Given the description of an element on the screen output the (x, y) to click on. 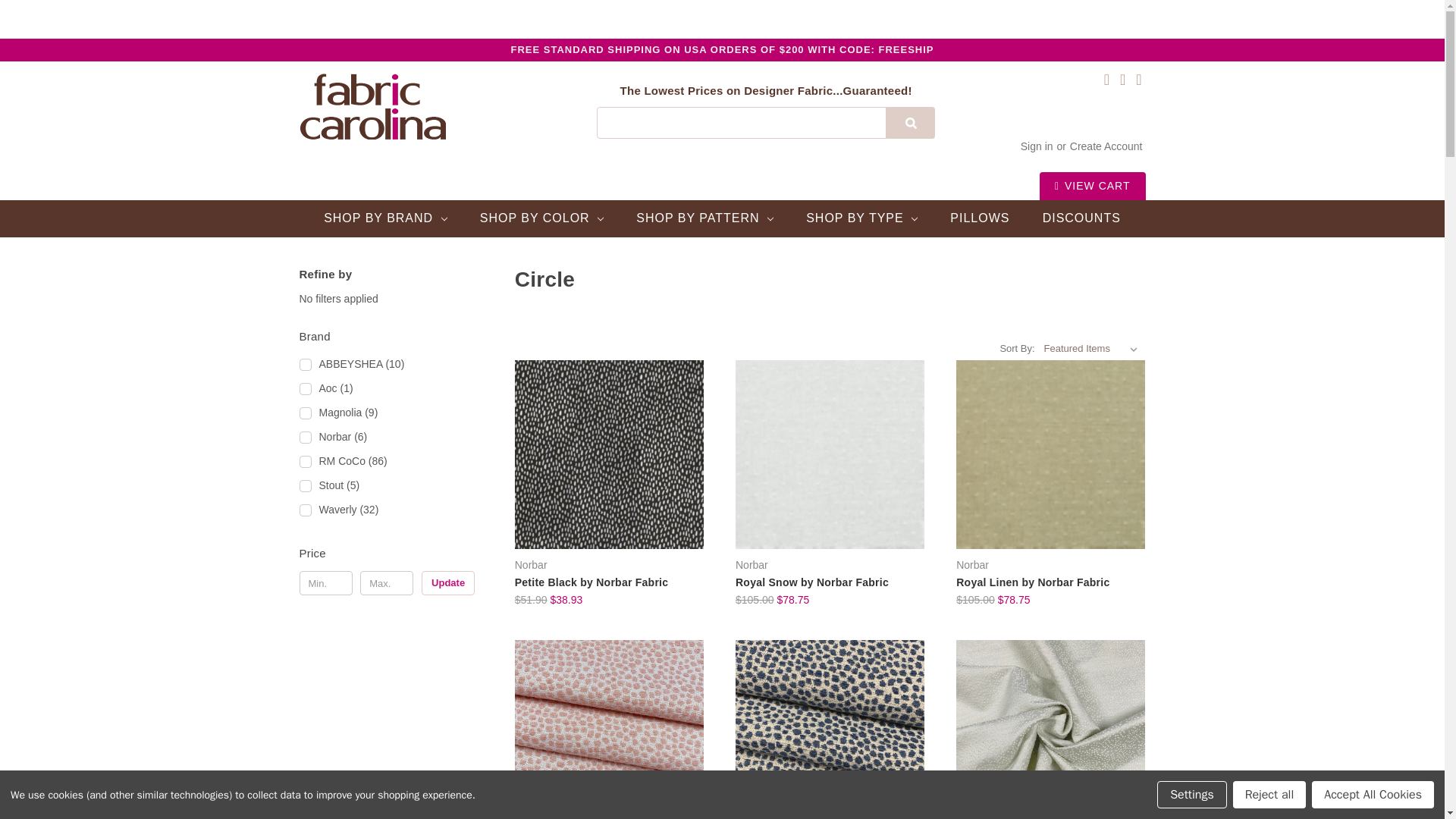
Fabric Carolina (372, 106)
Search (910, 122)
Search (910, 122)
Create Account (1106, 146)
VIEW CART (1092, 186)
Sign in (1036, 146)
SHOP BY BRAND (385, 218)
